Given the description of an element on the screen output the (x, y) to click on. 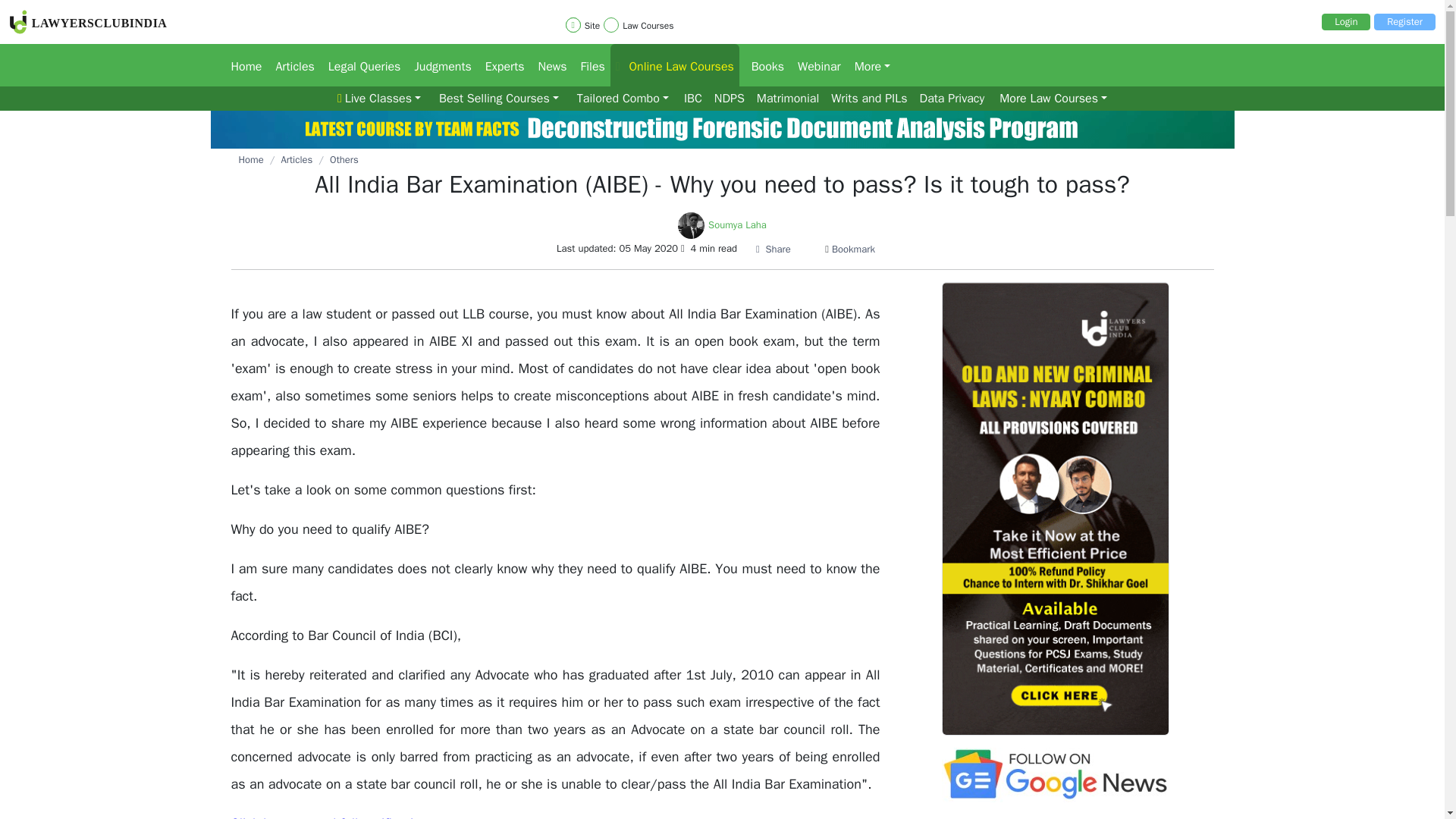
News (547, 65)
Judgments (436, 65)
Legal Queries (359, 65)
Share Files (589, 65)
Register (1404, 21)
Judgments (436, 65)
Articles (289, 65)
Webinar (814, 65)
Books (762, 65)
Experts (499, 65)
News (547, 65)
More (867, 65)
Forum (359, 65)
Experts (499, 65)
Best Selling Courses (498, 98)
